Given the description of an element on the screen output the (x, y) to click on. 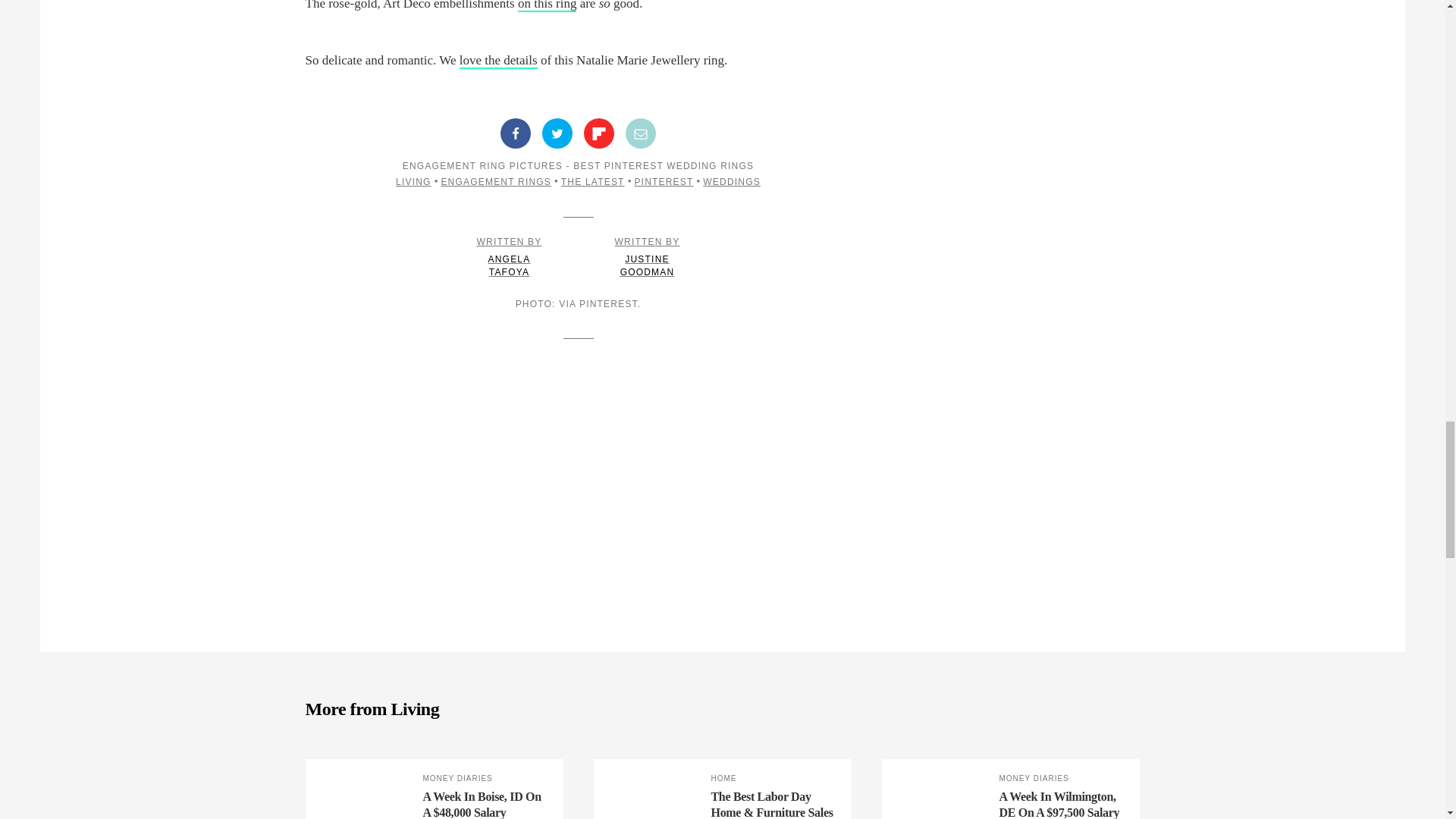
Share on Twitter (556, 132)
Share on Flipboard (598, 132)
Share by Email (641, 132)
